Given the description of an element on the screen output the (x, y) to click on. 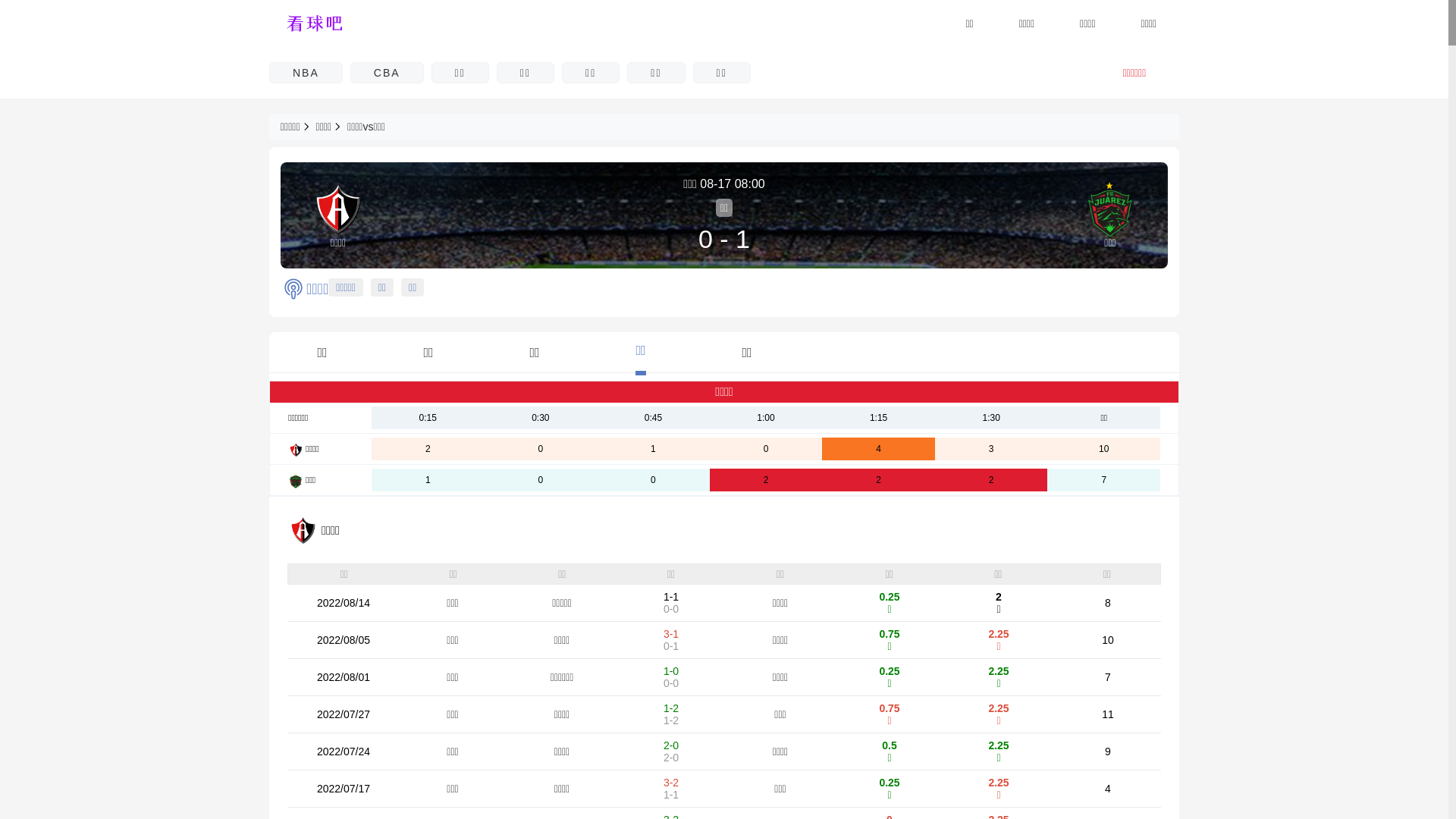
CBA Element type: text (386, 72)
NBA Element type: text (305, 72)
